Given the description of an element on the screen output the (x, y) to click on. 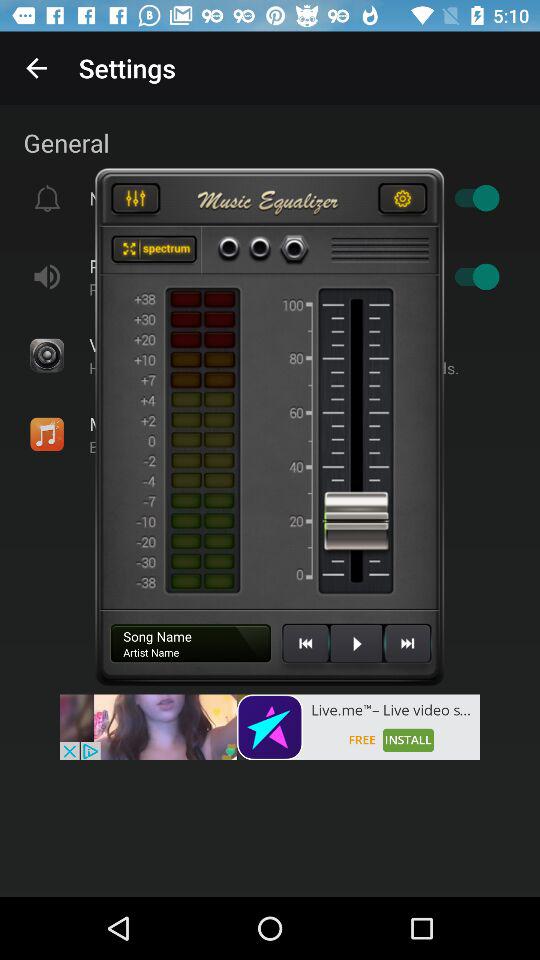
app option (154, 250)
